Given the description of an element on the screen output the (x, y) to click on. 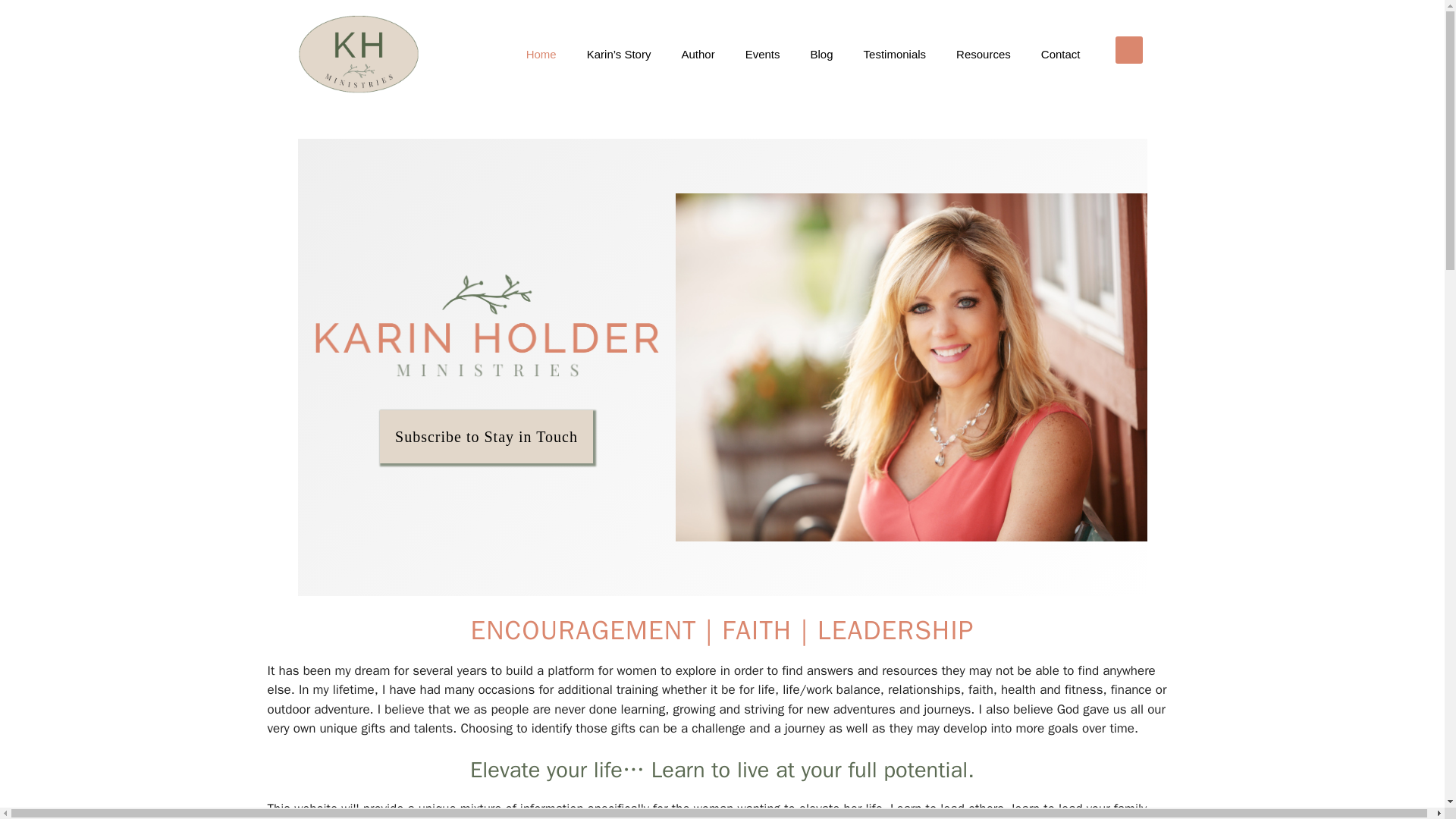
Resources (983, 53)
Testimonials (895, 53)
Blog (821, 53)
Author (697, 53)
Contact (1061, 53)
Events (762, 53)
Home (541, 53)
Subscribe to Stay in Touch (486, 436)
